Given the description of an element on the screen output the (x, y) to click on. 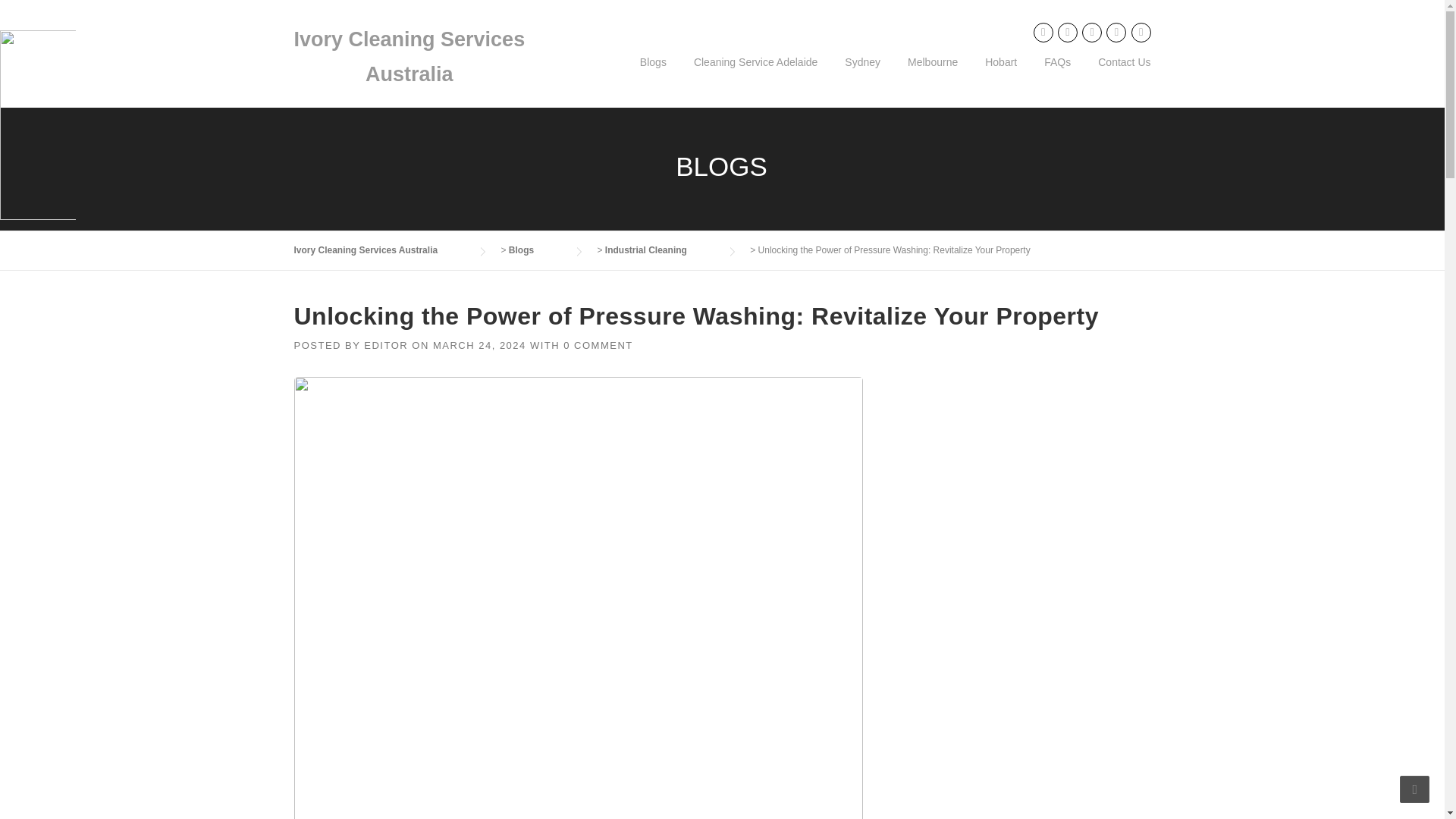
Go to Ivory Cleaning Services Australia. (381, 249)
Ivory Cleaning Services Australia (409, 56)
EDITOR (385, 345)
Youtube (1115, 32)
Ivory Cleaning Services Australia (381, 249)
MARCH 24, 2024 (478, 345)
Go to the Industrial Cleaning Category archives. (661, 249)
Email (1141, 32)
Cleaning Service Adelaide (755, 74)
Linkedin (1067, 32)
Instagram (1091, 32)
Blogs (536, 249)
Facebook (1042, 32)
Blogs (652, 74)
Sydney (862, 74)
